Given the description of an element on the screen output the (x, y) to click on. 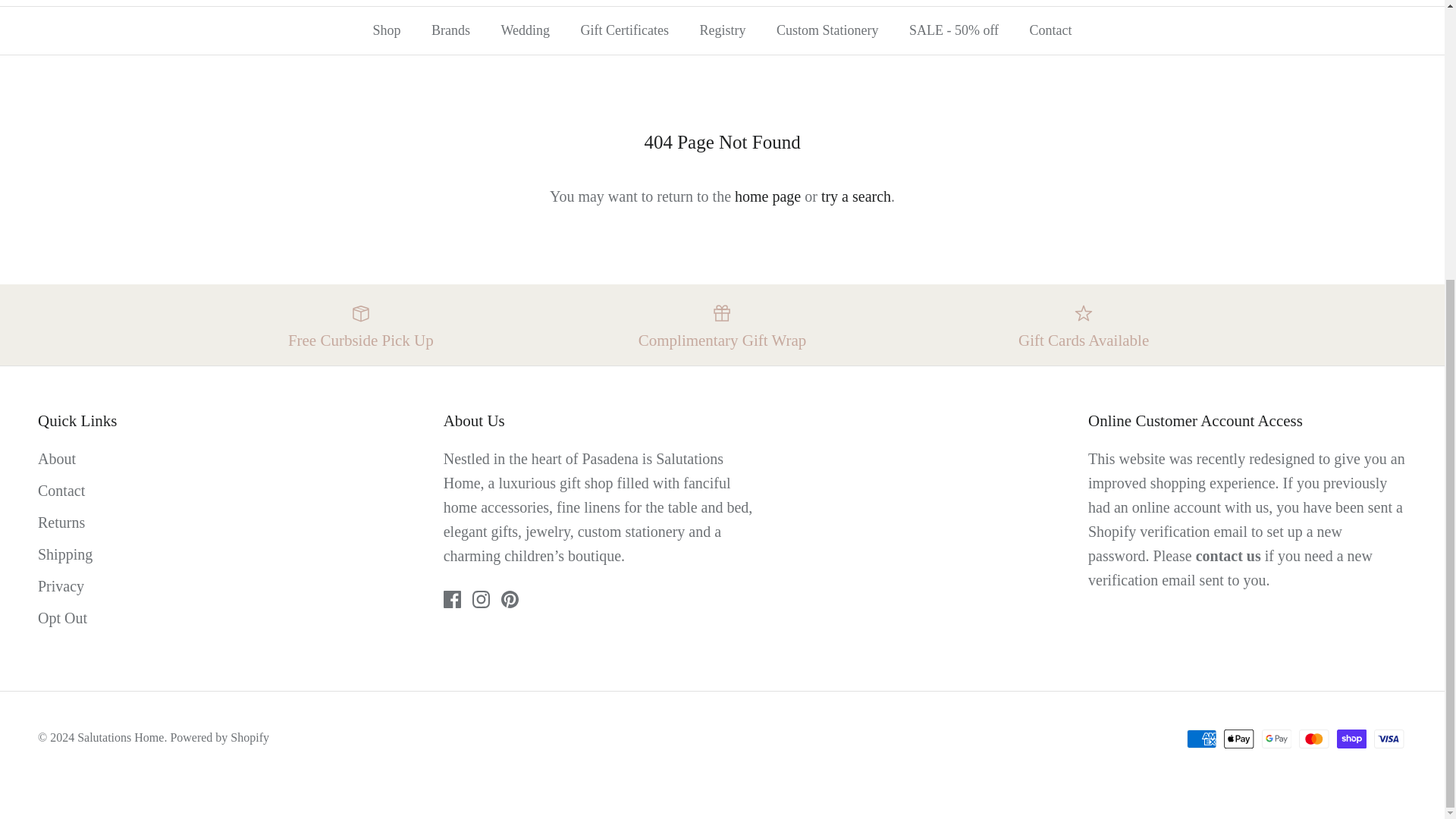
American Express (1201, 738)
Google Pay (1276, 738)
Shop (385, 30)
Instagram (480, 599)
Shop Pay (1351, 738)
Visa (1388, 738)
Facebook (452, 599)
Apple Pay (1238, 738)
Mastercard (1313, 738)
Contact (1227, 555)
